Given the description of an element on the screen output the (x, y) to click on. 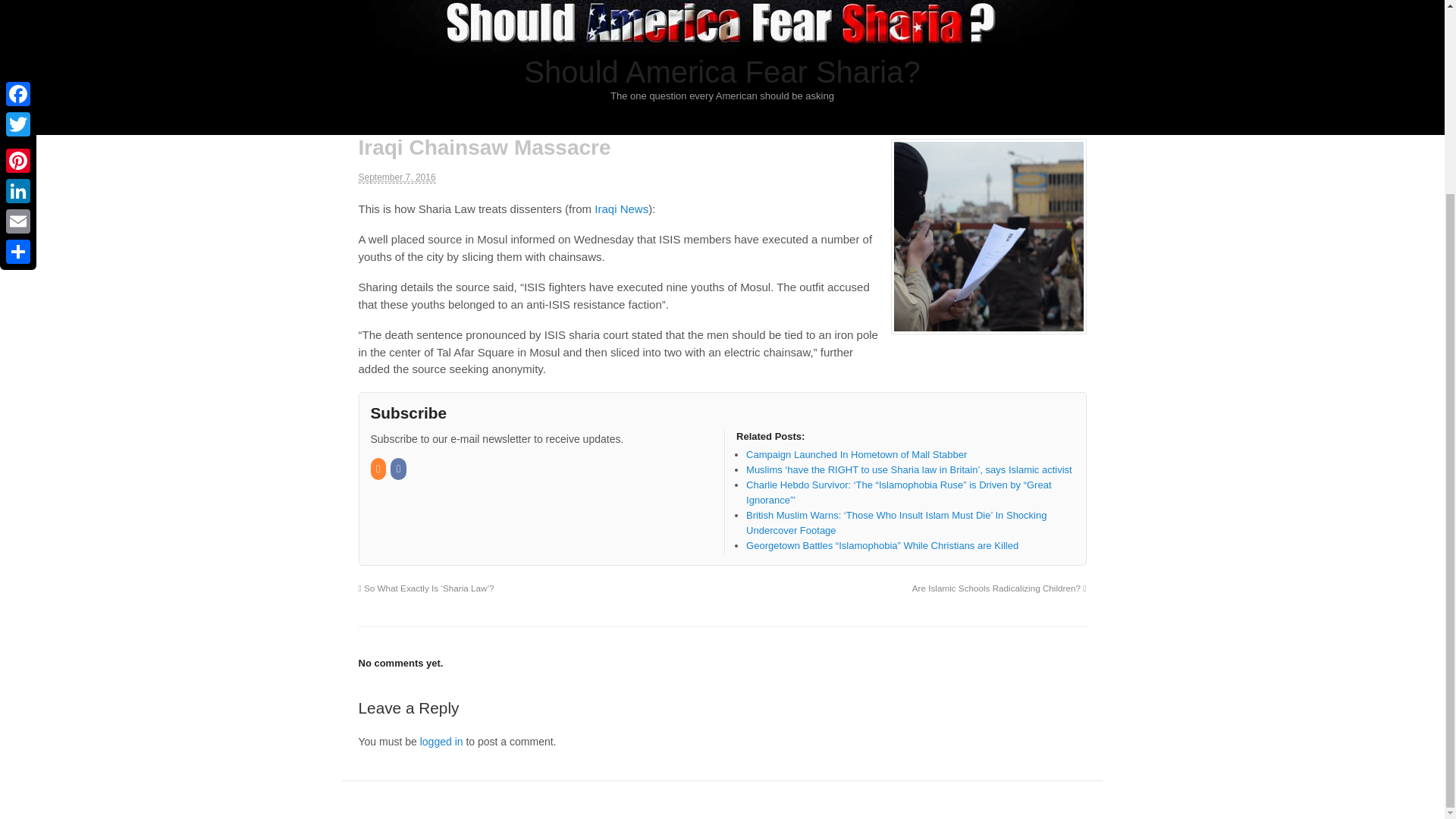
Campaign Launched In Hometown of Mall Stabber (855, 454)
Should America Fear Sharia? (722, 71)
Iraqi News (620, 208)
RSS (378, 469)
Share (17, 11)
The one question every American should be asking (722, 48)
logged in (441, 741)
Facebook (398, 469)
Campaign Launched In Hometown of Mall Stabber (855, 454)
Iraqi Chainsaw Massacre (987, 236)
Are Islamic Schools Radicalizing Children? (999, 587)
